Given the description of an element on the screen output the (x, y) to click on. 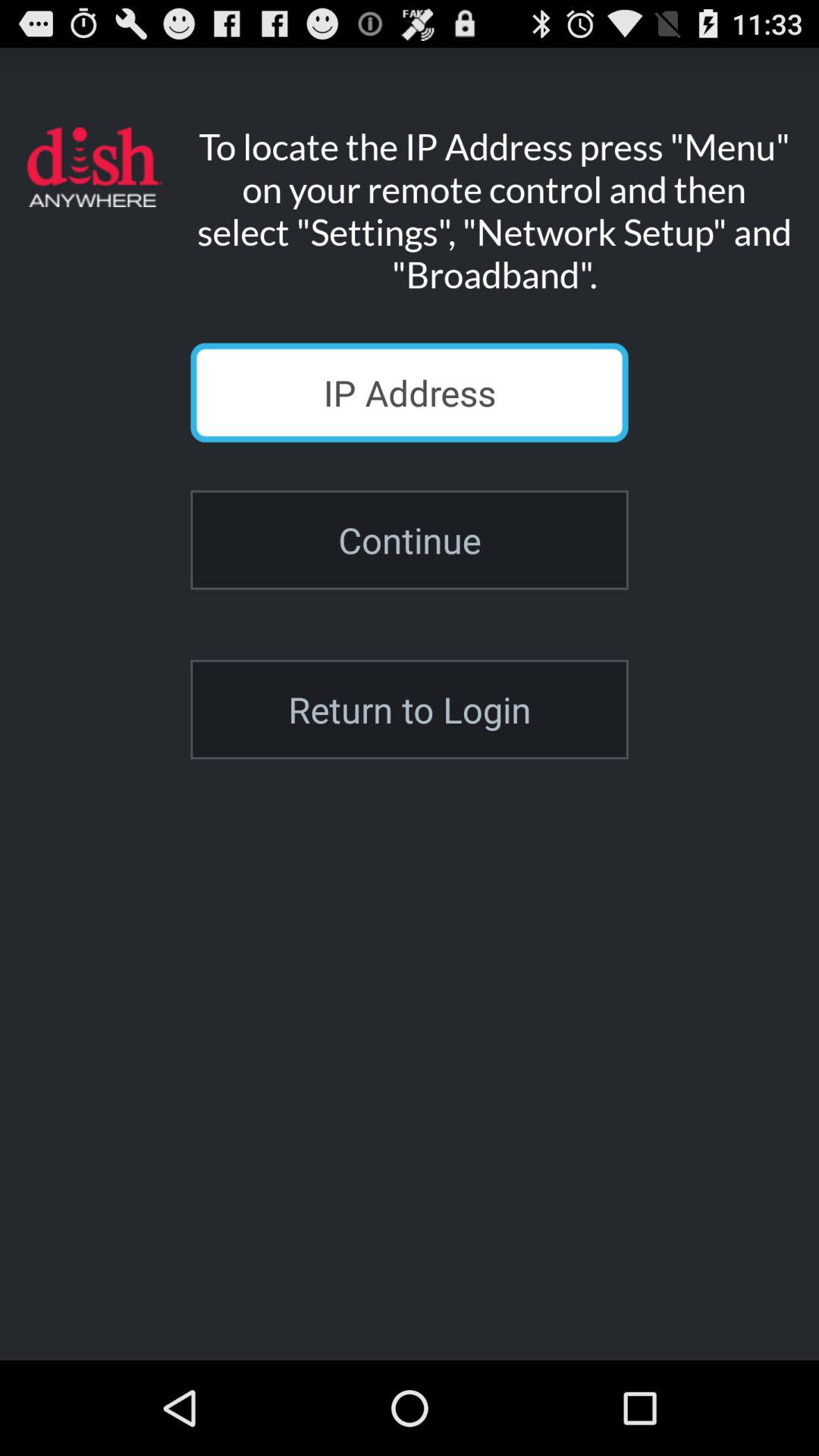
select ip address (409, 392)
